Given the description of an element on the screen output the (x, y) to click on. 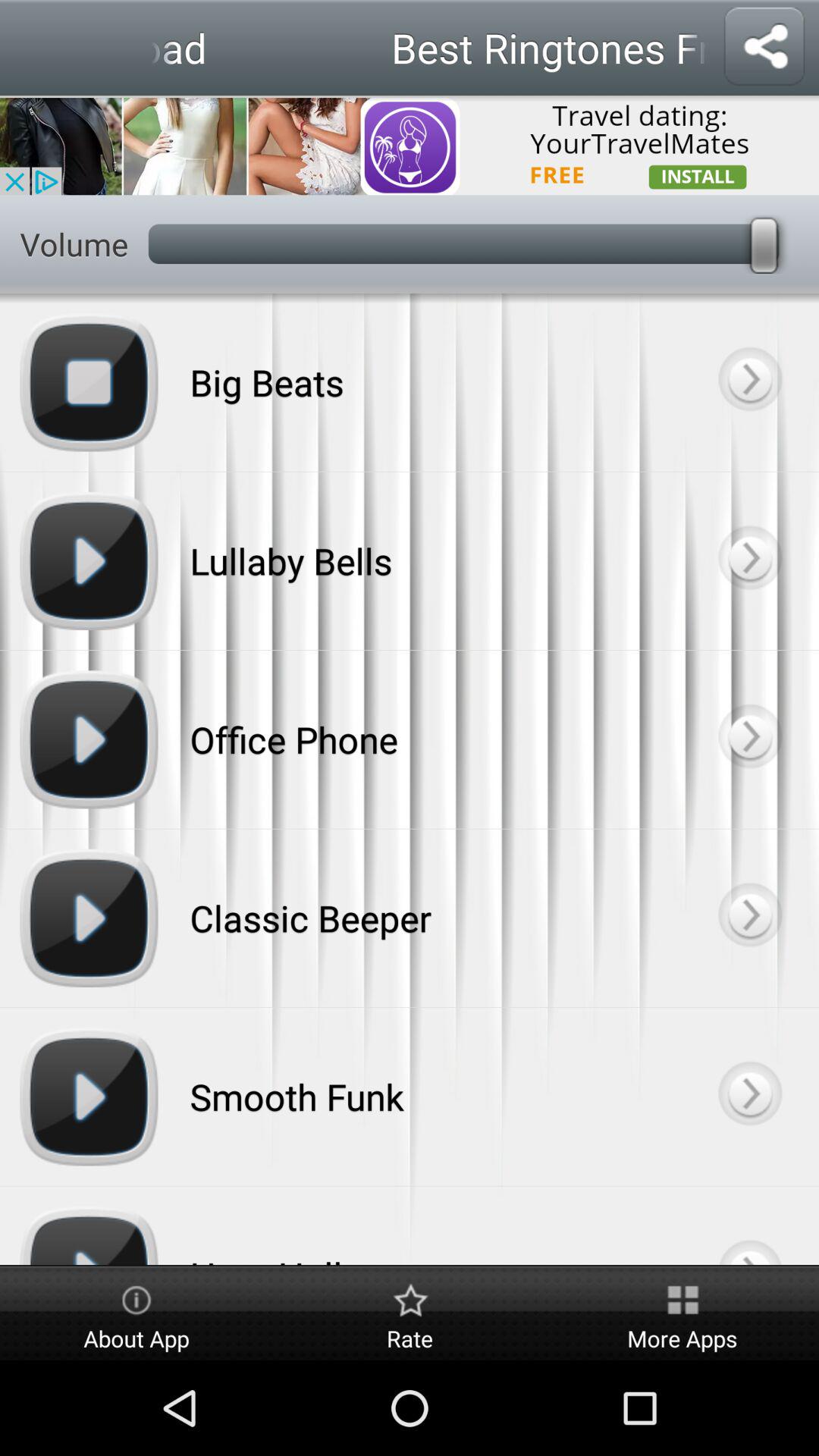
click to the next (749, 382)
